Given the description of an element on the screen output the (x, y) to click on. 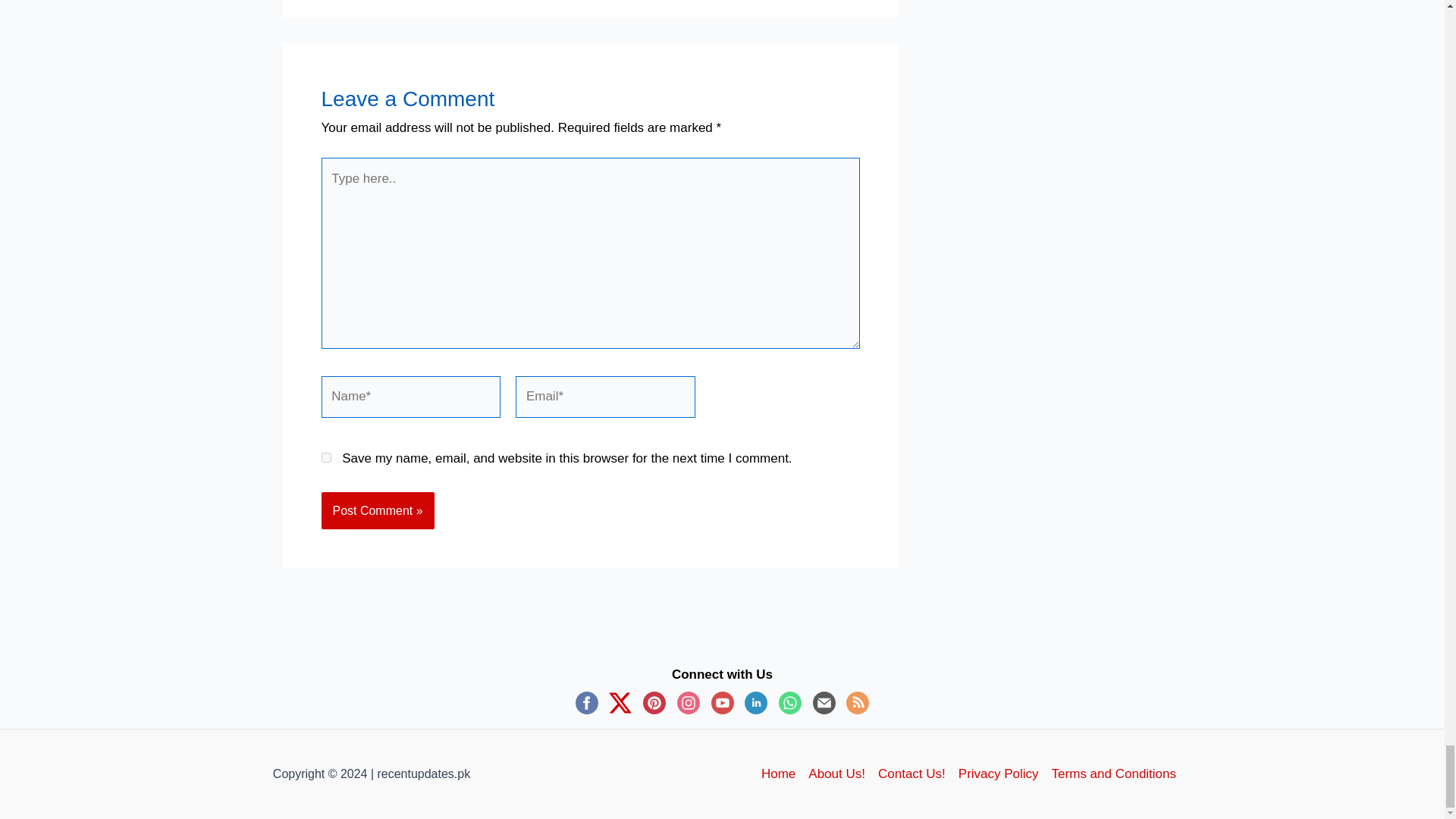
yes (326, 457)
